Given the description of an element on the screen output the (x, y) to click on. 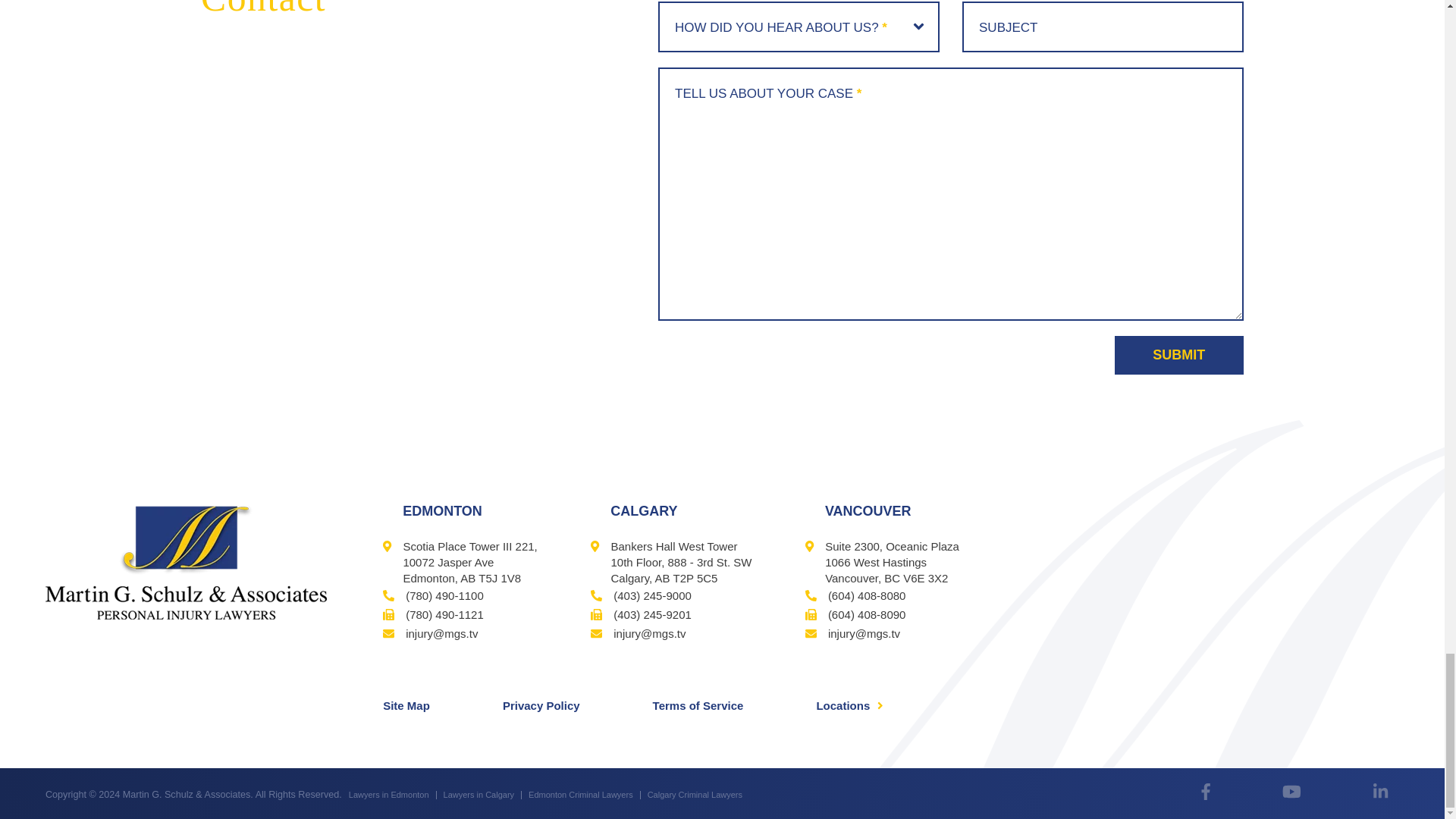
SUBMIT (1179, 354)
